Given the description of an element on the screen output the (x, y) to click on. 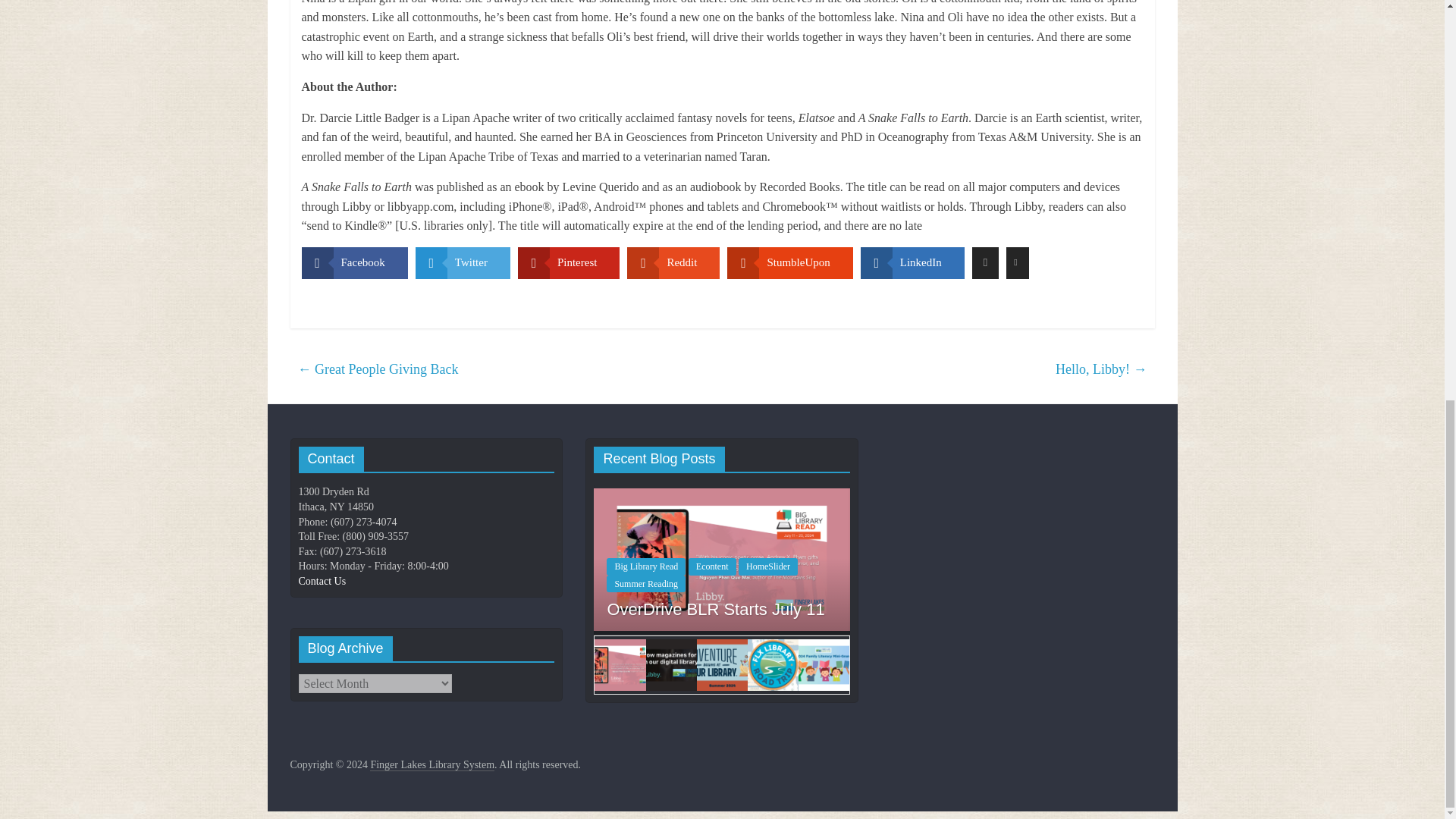
2024 FLLS Family Literacy Mini-Grants Awarded (465, 559)
OverDrive BLR Starts July 11 (722, 559)
OverDrive BLR Starts July 11 (715, 609)
